Given the description of an element on the screen output the (x, y) to click on. 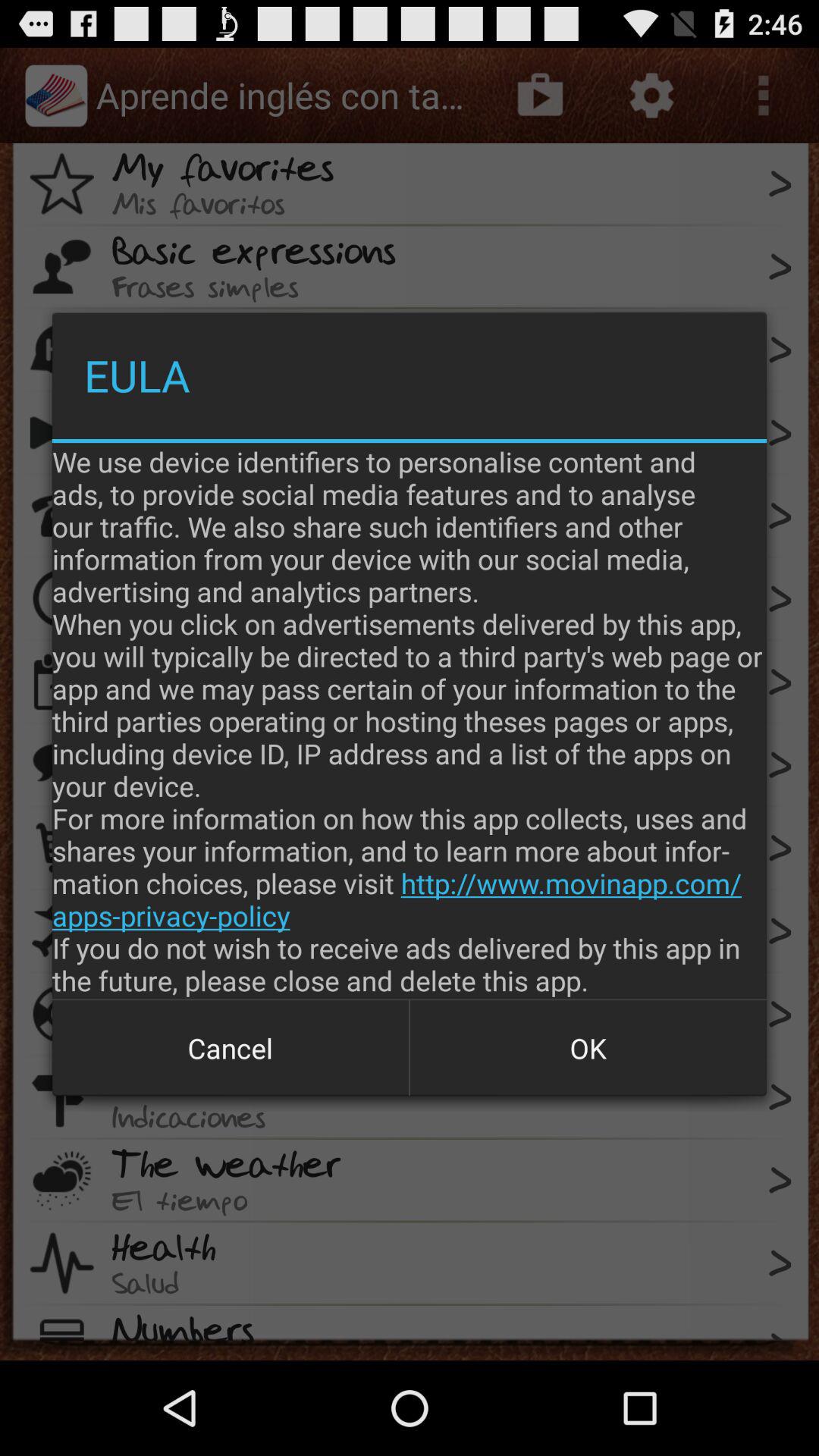
open button to the right of cancel item (588, 1047)
